Given the description of an element on the screen output the (x, y) to click on. 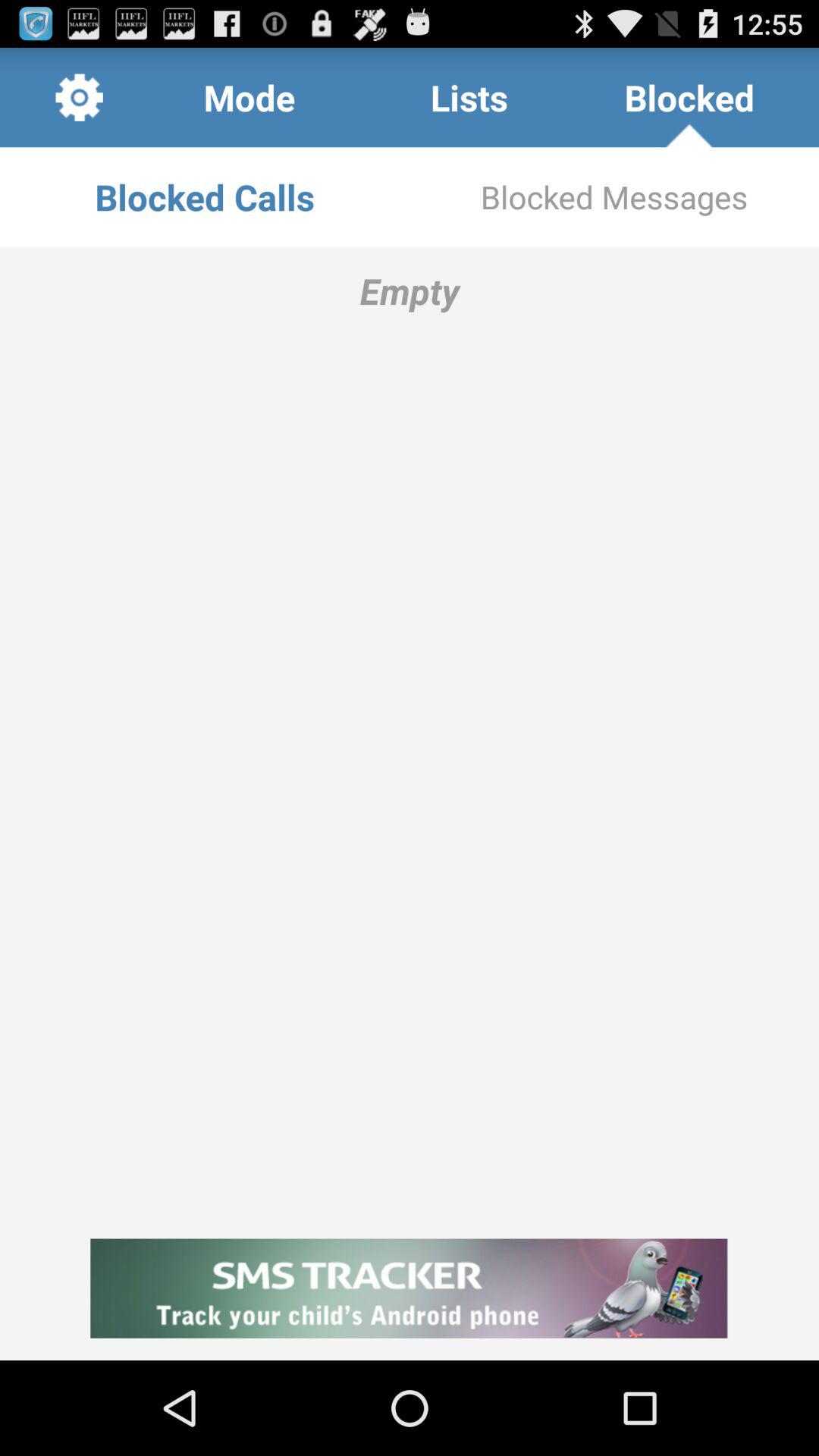
tap the item to the left of blocked item (469, 97)
